Given the description of an element on the screen output the (x, y) to click on. 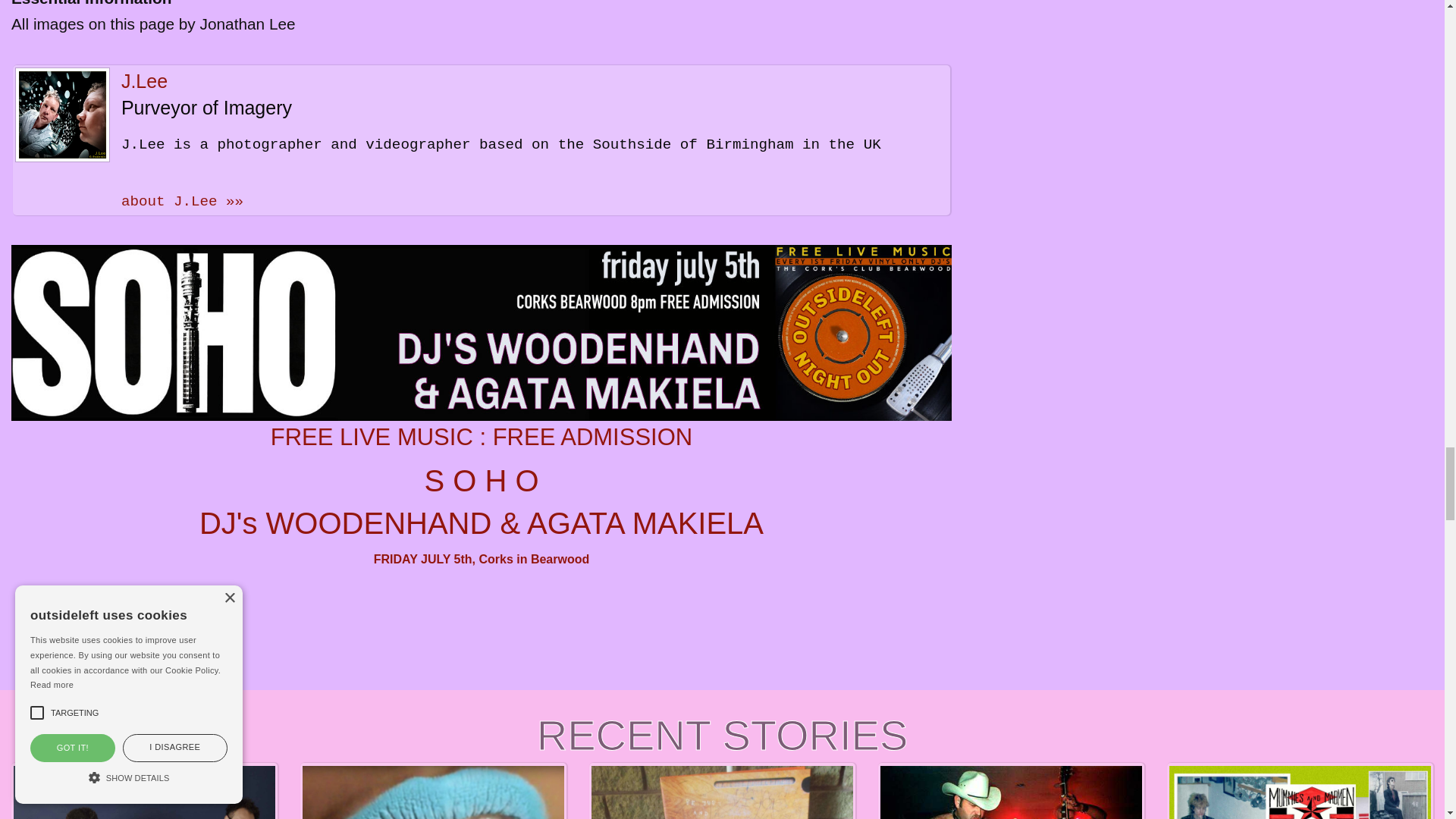
J.Lee (143, 80)
